Given the description of an element on the screen output the (x, y) to click on. 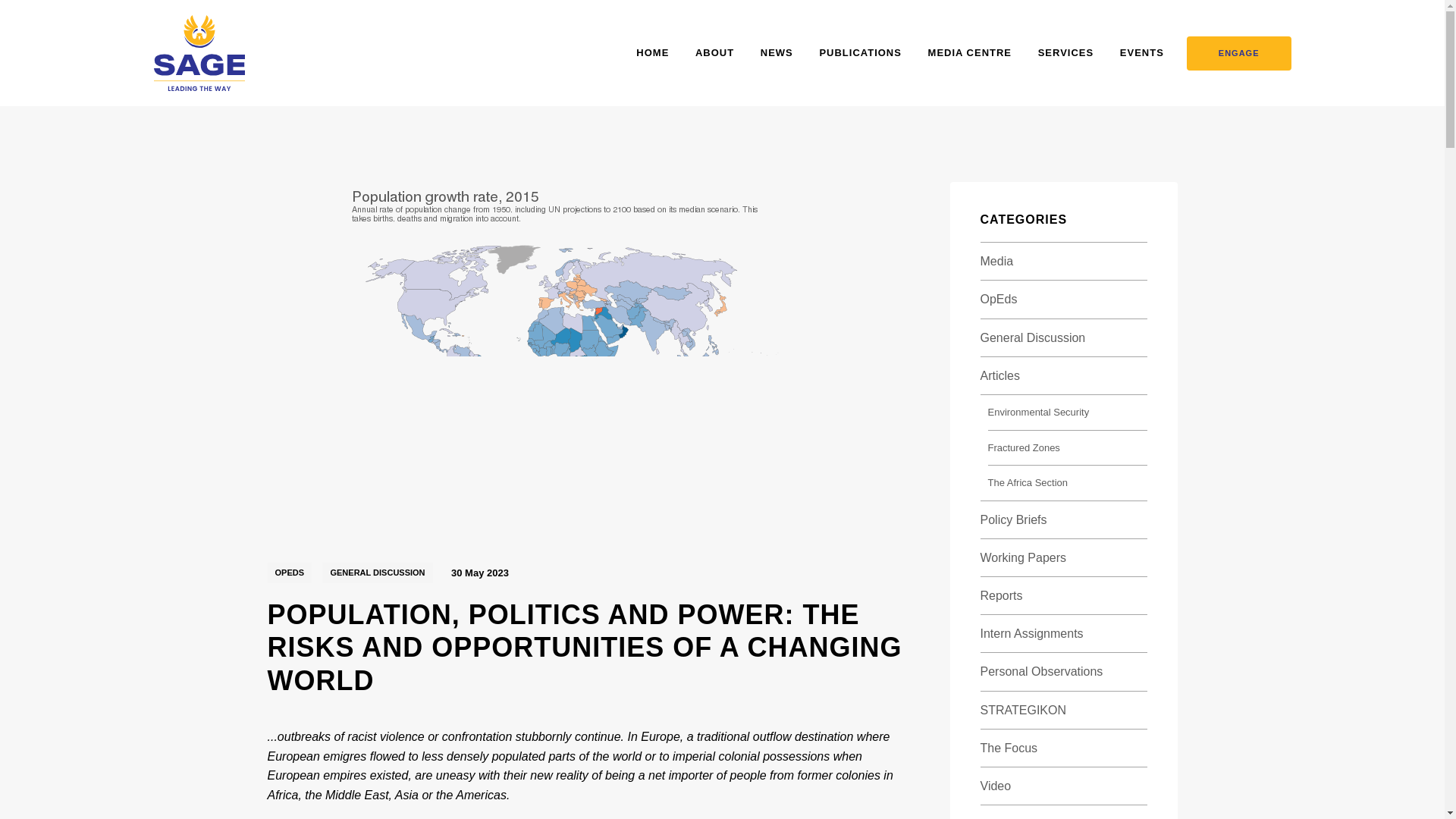
HOME (652, 53)
NEWS (776, 53)
ENGAGE (1238, 53)
EVENTS (1141, 53)
ABOUT (714, 53)
OPEDS (288, 572)
MEDIA CENTRE (969, 53)
PUBLICATIONS (859, 53)
SERVICES (1066, 53)
GENERAL DISCUSSION (376, 572)
